Given the description of an element on the screen output the (x, y) to click on. 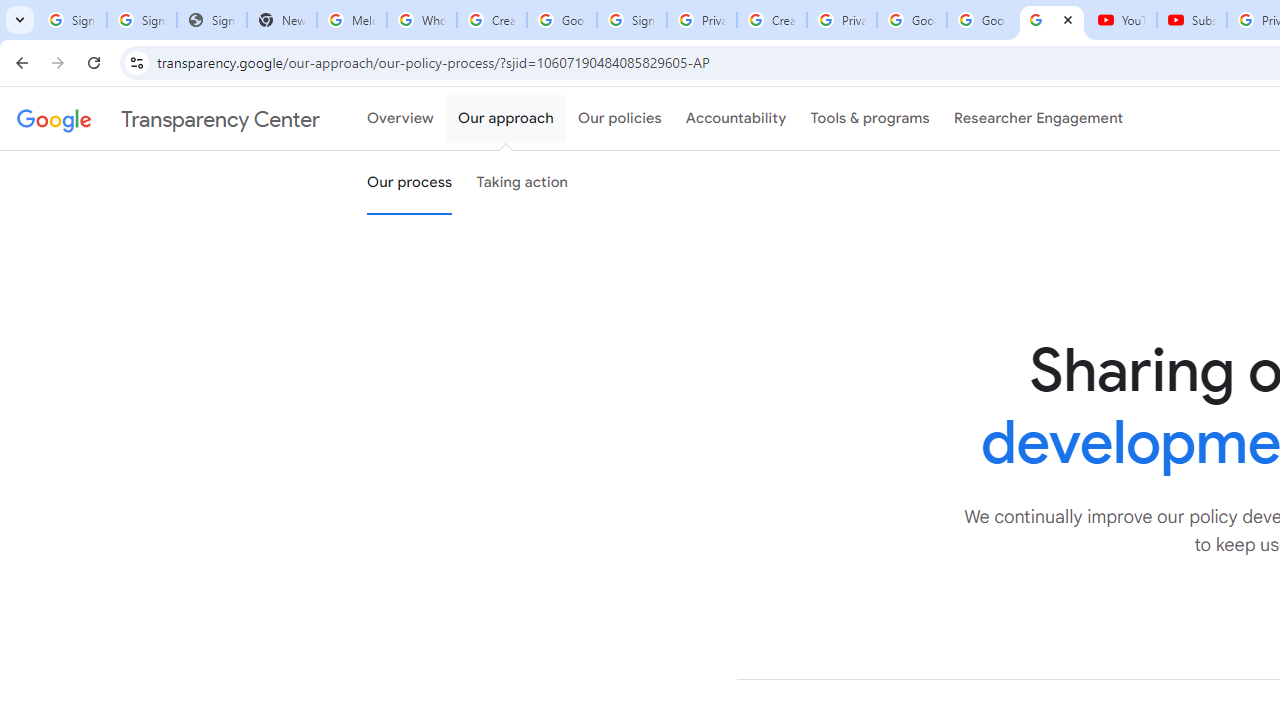
Create your Google Account (772, 20)
Sign in - Google Accounts (631, 20)
Accountability (735, 119)
YouTube (1121, 20)
Our approach (506, 119)
Transparency Center (167, 119)
Researcher Engagement (1038, 119)
Our process (409, 183)
